Given the description of an element on the screen output the (x, y) to click on. 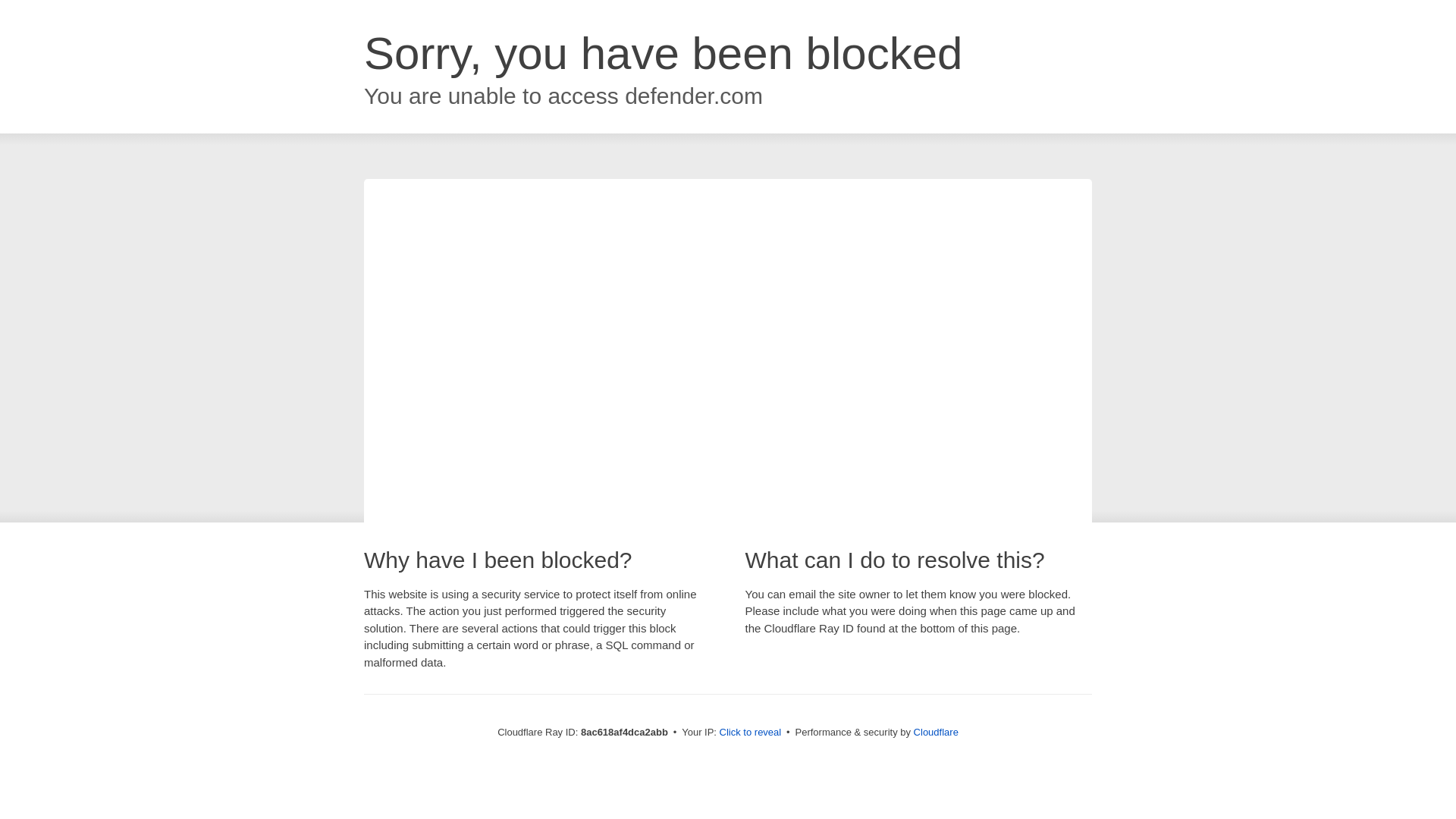
Cloudflare (936, 731)
Click to reveal (750, 732)
